Given the description of an element on the screen output the (x, y) to click on. 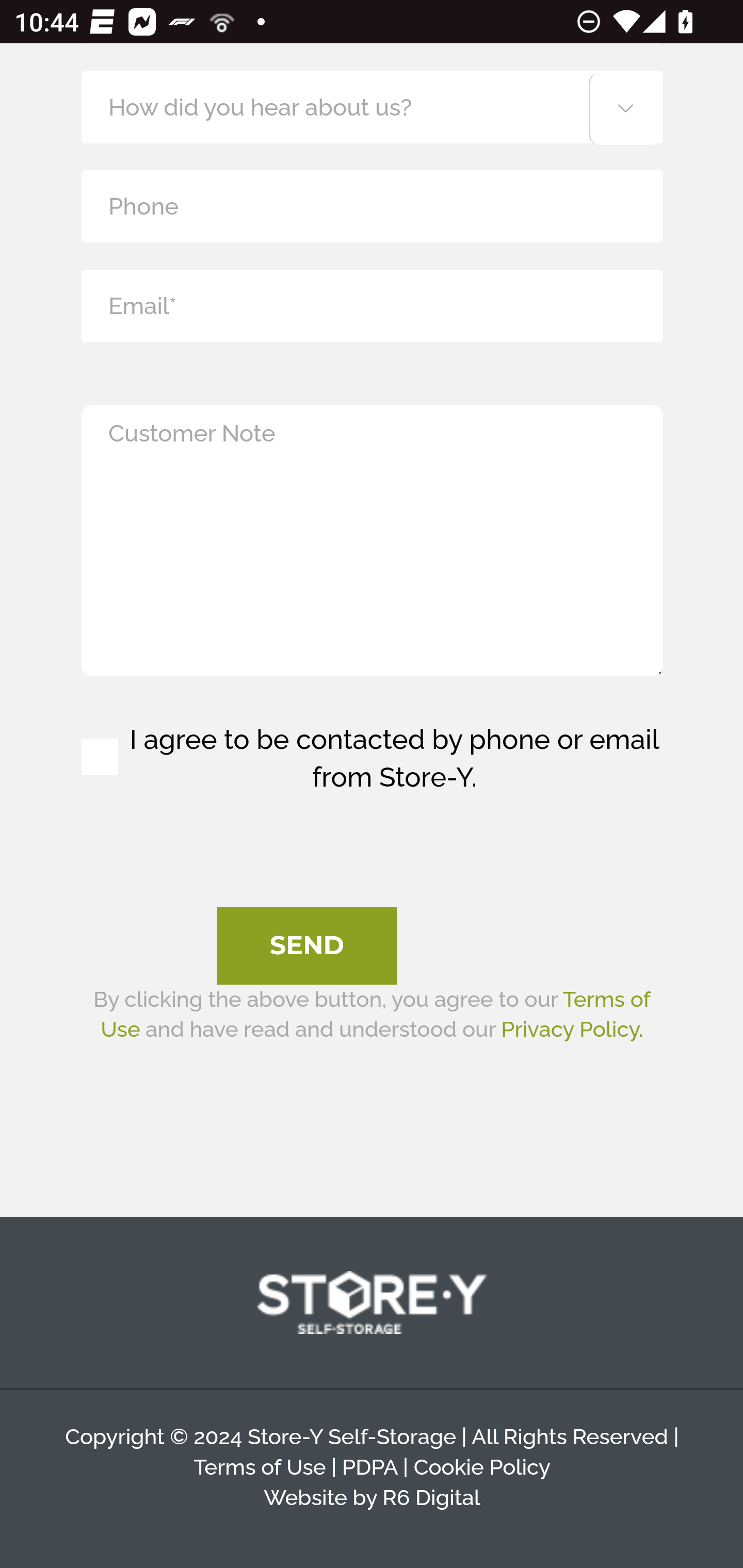
How did you hear about us? (371, 107)
Send (306, 946)
Terms of Use (374, 1014)
Privacy Policy. (572, 1029)
store-y logo no background | Store-y Self Storage (371, 1303)
Terms of Use (259, 1468)
PDPA (369, 1468)
Cookie Policy (480, 1468)
R6 Digital (430, 1496)
